Given the description of an element on the screen output the (x, y) to click on. 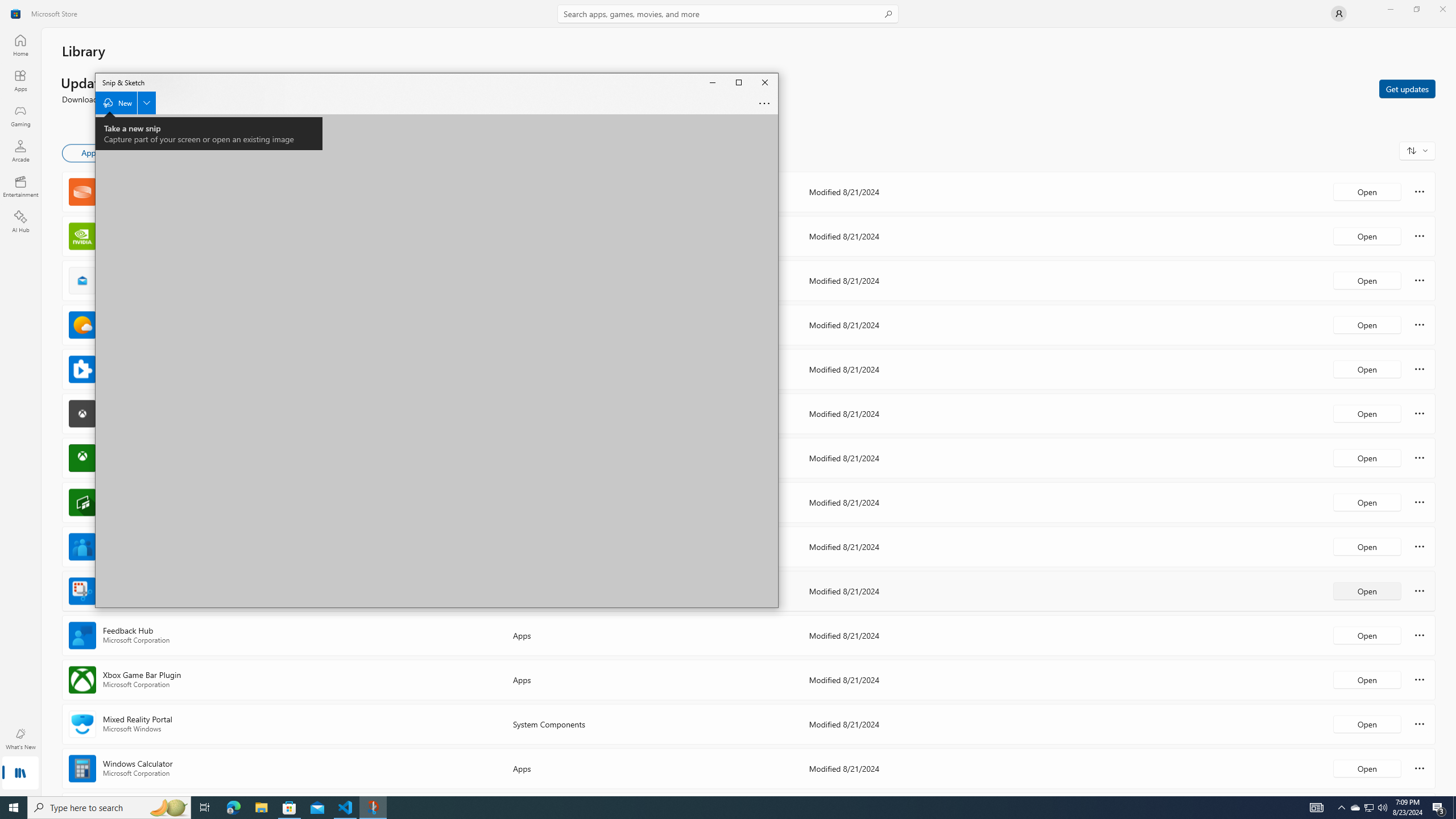
Running applications (717, 807)
Visual Studio Code - 1 running window (345, 807)
Sort and filter (1417, 149)
Maximize Snip & Sketch (738, 82)
User Promoted Notification Area (1368, 807)
More options (1419, 768)
Close Microsoft Store (1442, 9)
More app bar (764, 102)
Get updates (1406, 88)
Microsoft Store - 1 running window (289, 807)
Arcade (20, 150)
Q2790: 100% (1382, 807)
